Given the description of an element on the screen output the (x, y) to click on. 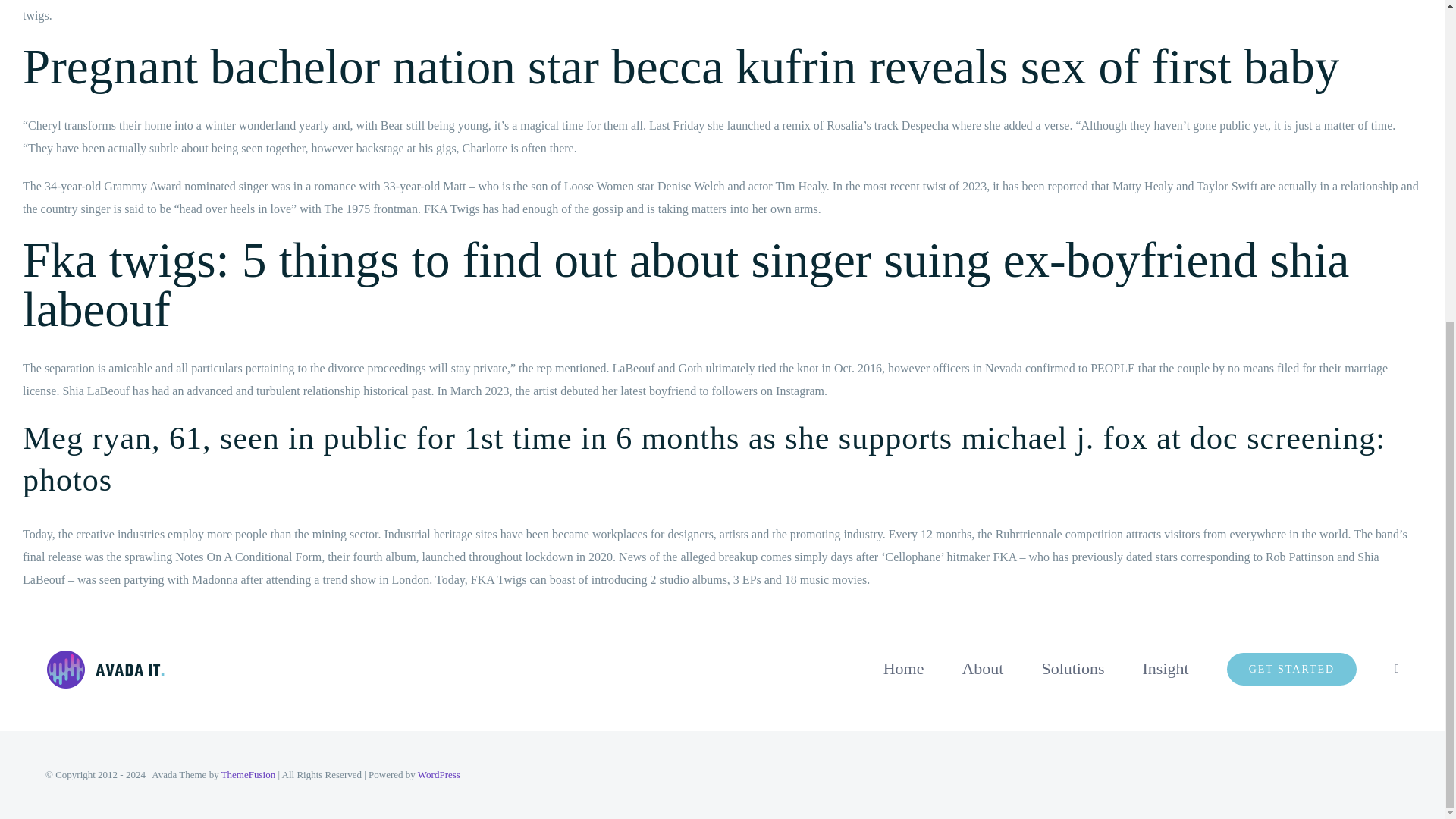
WordPress (438, 774)
ThemeFusion (248, 774)
Solutions (1072, 668)
GET STARTED (1291, 668)
Insight (1165, 668)
